Given the description of an element on the screen output the (x, y) to click on. 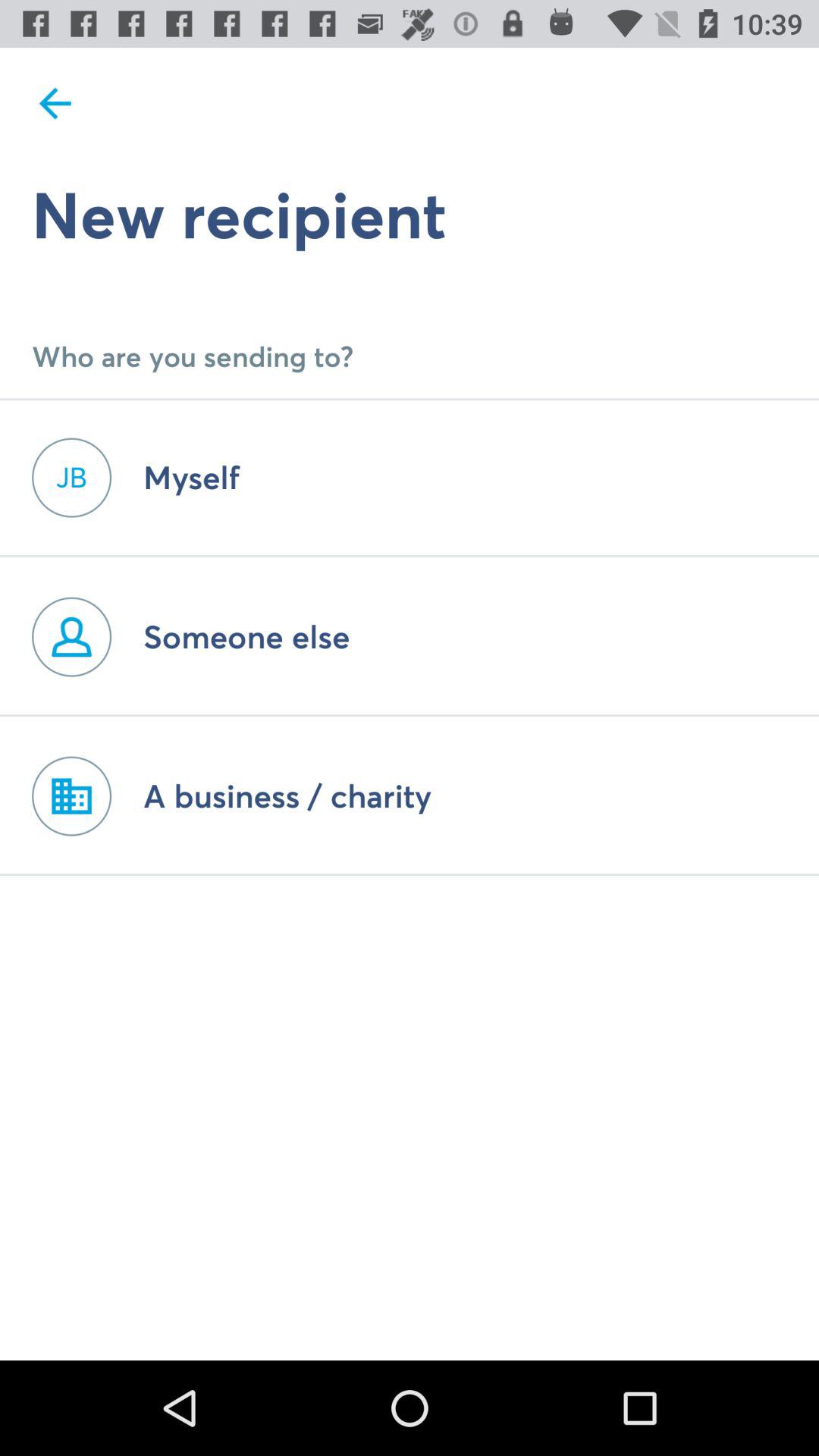
open item above the new recipient icon (55, 103)
